Given the description of an element on the screen output the (x, y) to click on. 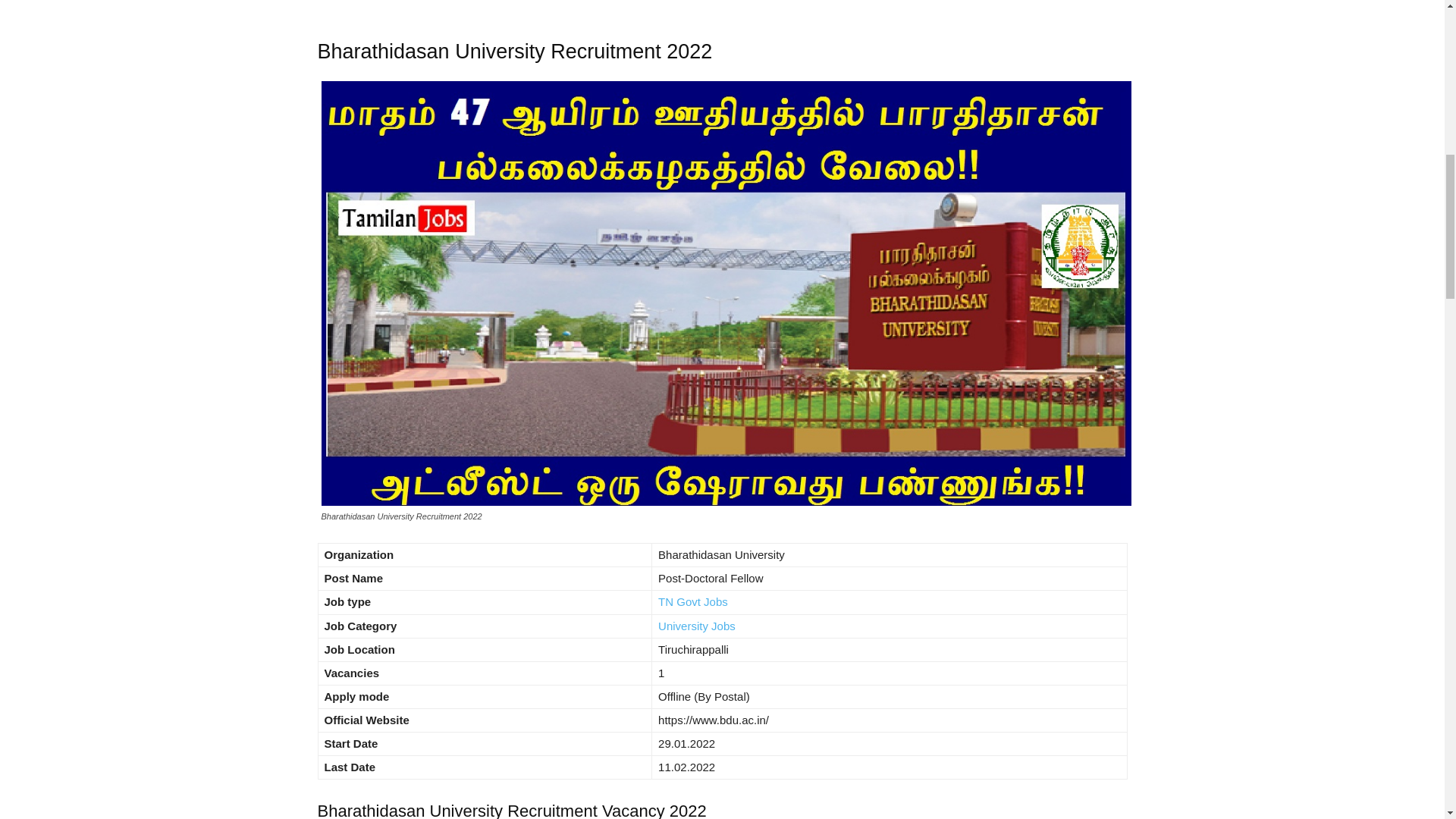
Advertisement (721, 7)
